Given the description of an element on the screen output the (x, y) to click on. 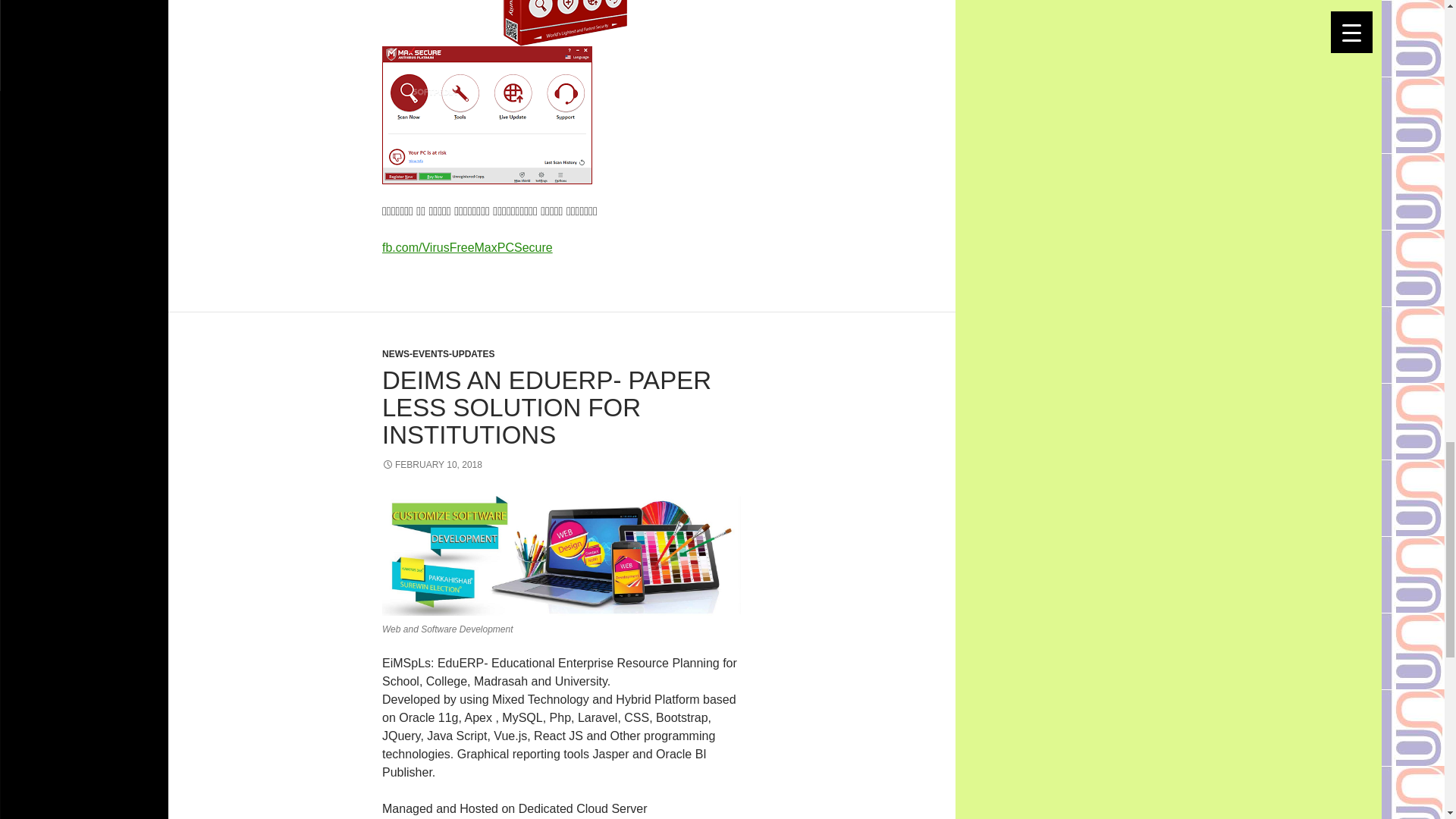
DEIMS AN EDUERP- PAPER LESS SOLUTION FOR INSTITUTIONS (546, 407)
NEWS-EVENTS-UPDATES (438, 353)
FEBRUARY 10, 2018 (431, 464)
